Given the description of an element on the screen output the (x, y) to click on. 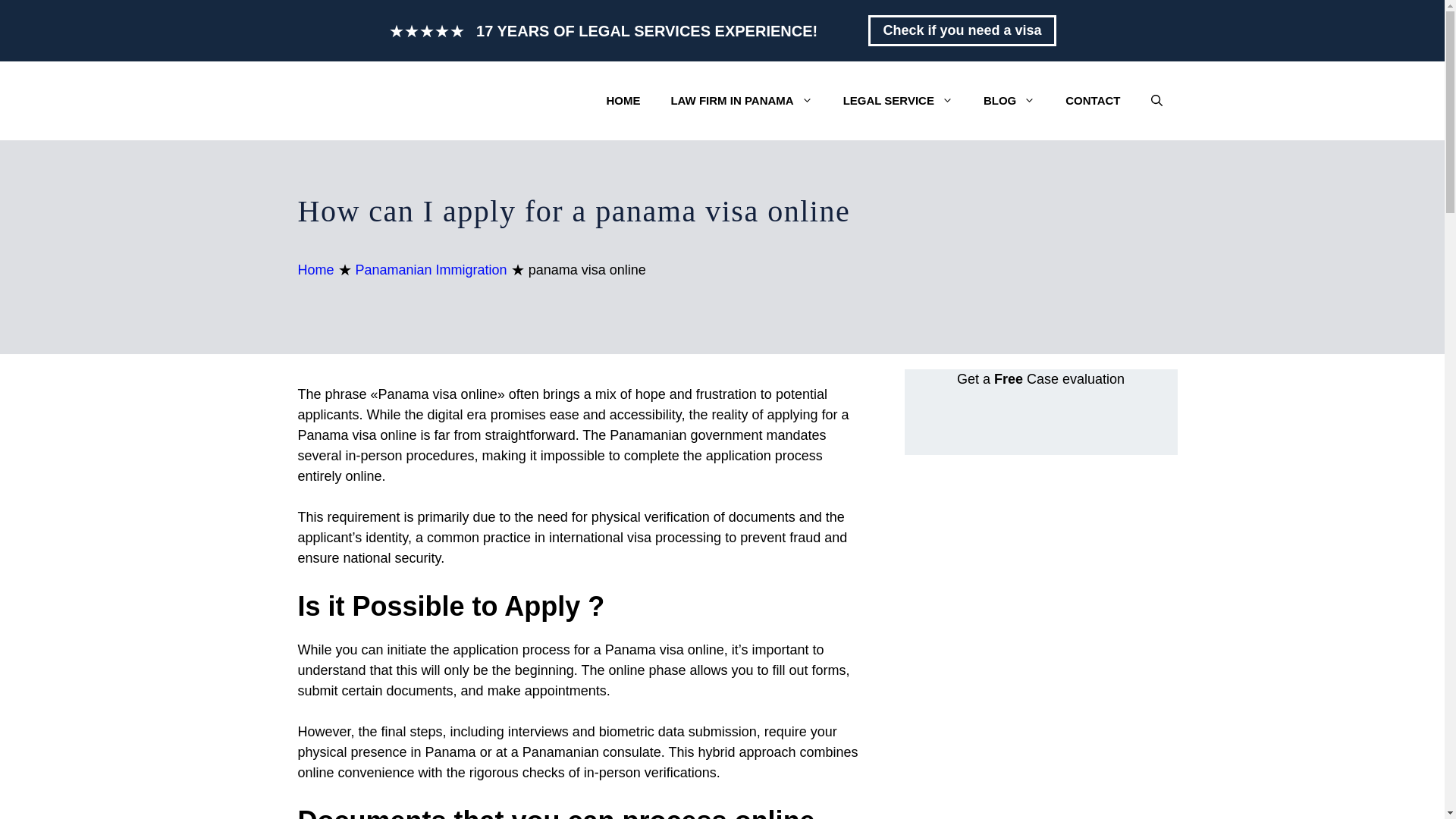
Check if you need a visa (961, 30)
LEGAL SERVICE (898, 100)
BLOG (1008, 100)
HOME (623, 100)
LAW FIRM IN PANAMA (741, 100)
